Given the description of an element on the screen output the (x, y) to click on. 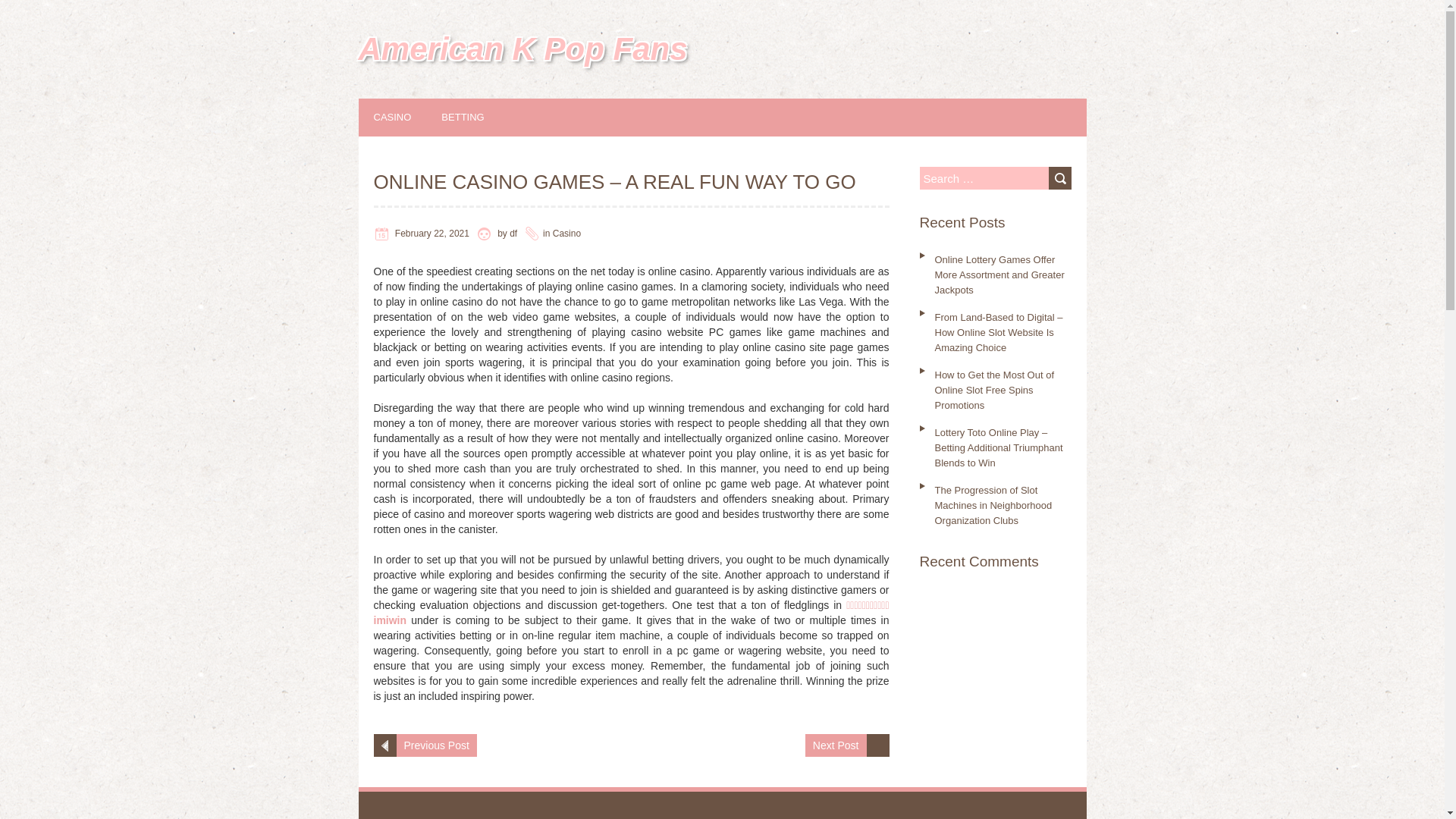
Search (1059, 178)
Casino (566, 233)
CASINO (407, 117)
American K Pop Fans (522, 48)
Previous Post (436, 744)
Search (1059, 178)
February 22, 2021 (431, 233)
Next Post (835, 744)
BETTING (477, 117)
How to Get the Most Out of Online Slot Free Spins Promotions (994, 390)
